Given the description of an element on the screen output the (x, y) to click on. 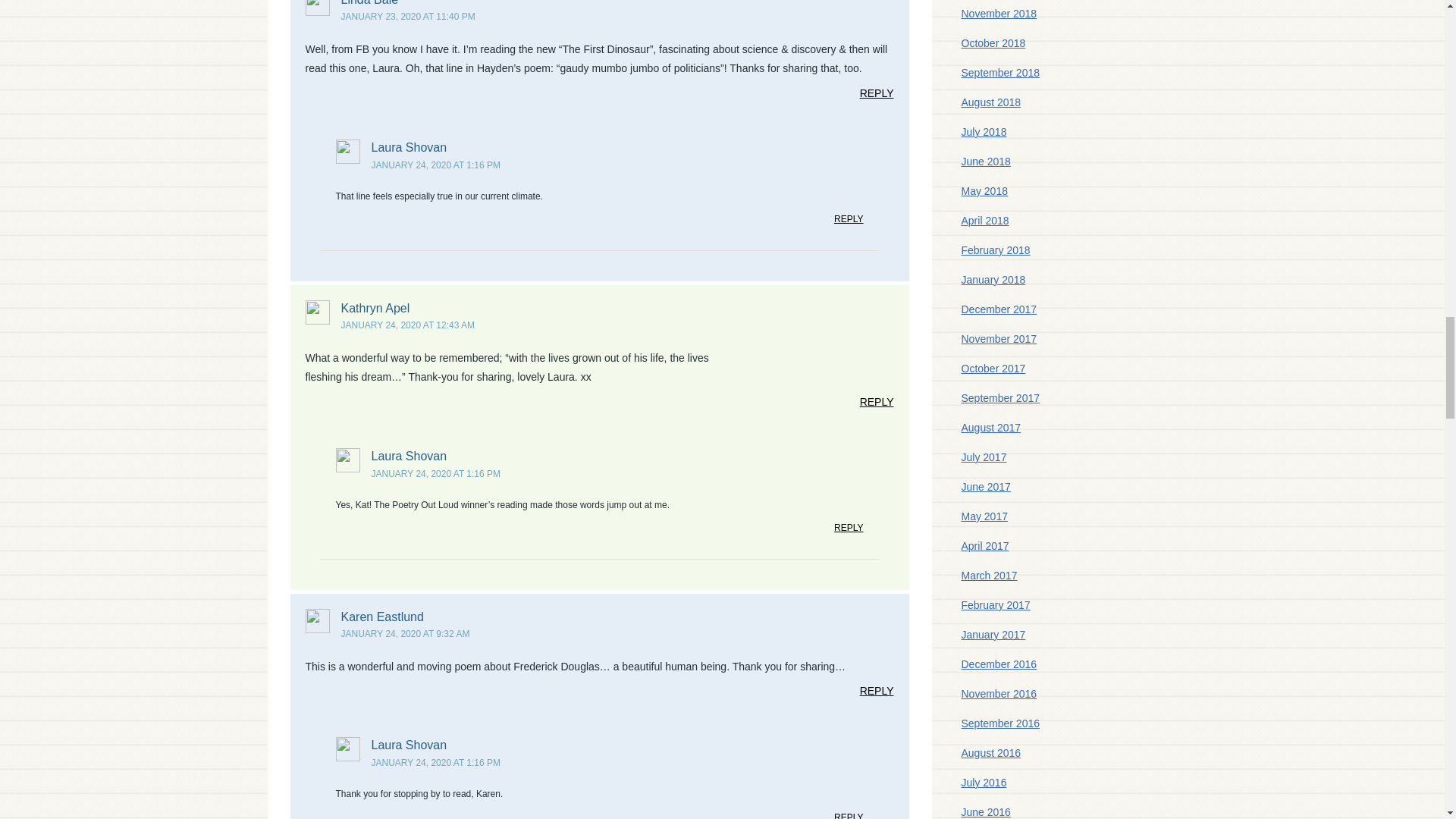
JANUARY 24, 2020 AT 12:43 AM (408, 325)
Kathryn Apel (375, 308)
Linda Baie (369, 2)
JANUARY 24, 2020 AT 1:16 PM (435, 164)
REPLY (848, 531)
REPLY (848, 222)
JANUARY 24, 2020 AT 1:16 PM (435, 473)
REPLY (876, 96)
JANUARY 23, 2020 AT 11:40 PM (408, 16)
REPLY (876, 405)
